Given the description of an element on the screen output the (x, y) to click on. 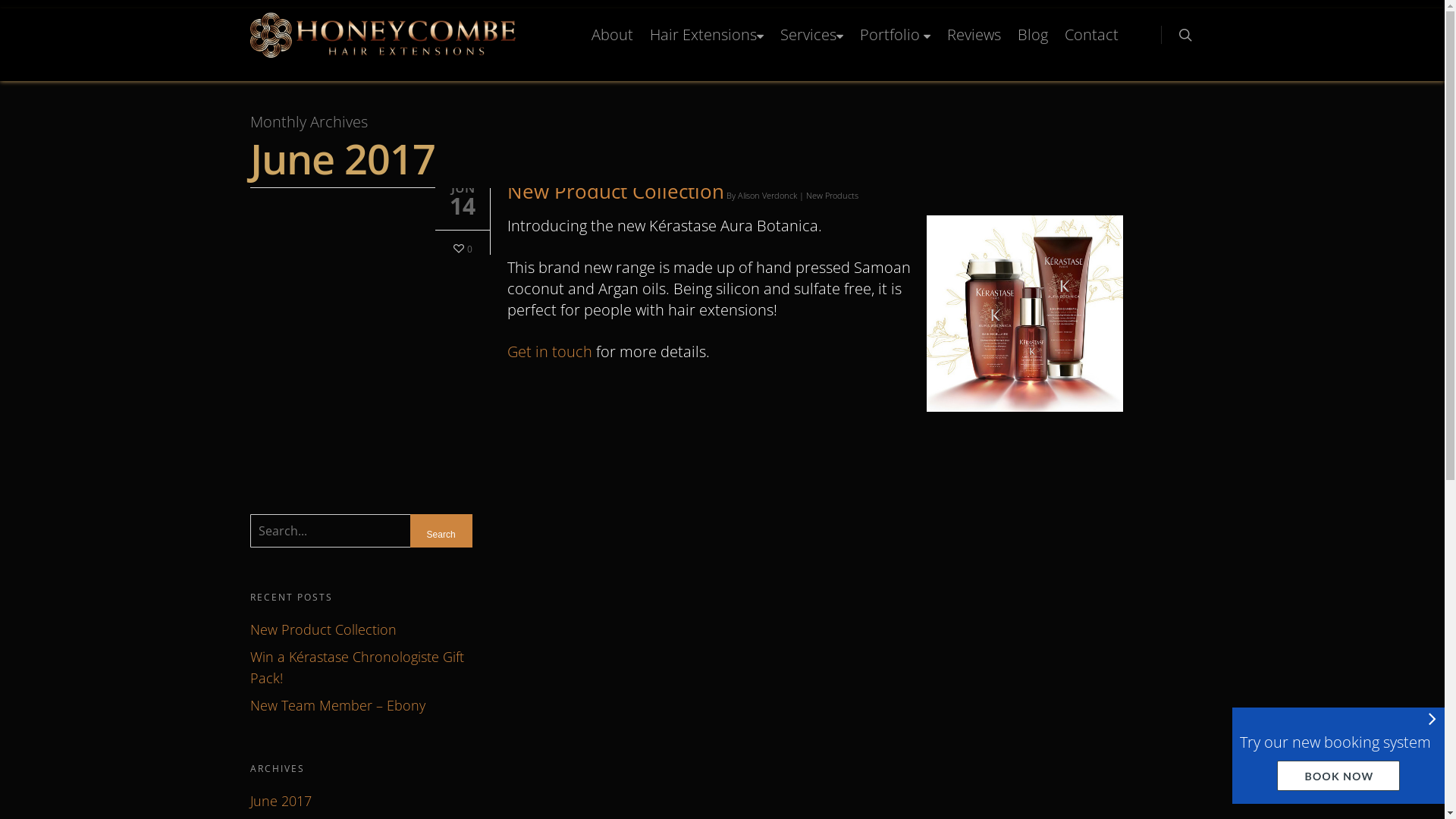
Services Element type: text (811, 46)
Get in touch Element type: text (549, 351)
Search Element type: text (441, 534)
June 2017 Element type: text (361, 800)
Contact Element type: text (1091, 40)
About Element type: text (611, 40)
Alison Verdonck Element type: text (767, 194)
New Product Collection Element type: text (615, 190)
Search for: Element type: hover (361, 530)
New Products Element type: text (832, 194)
Close Element type: hover (1432, 718)
Portfolio Element type: text (895, 46)
Blog Element type: text (1032, 40)
New Product Collection Element type: text (361, 629)
Reviews Element type: text (973, 40)
Hair Extensions Element type: text (706, 46)
0 Element type: text (460, 246)
